Given the description of an element on the screen output the (x, y) to click on. 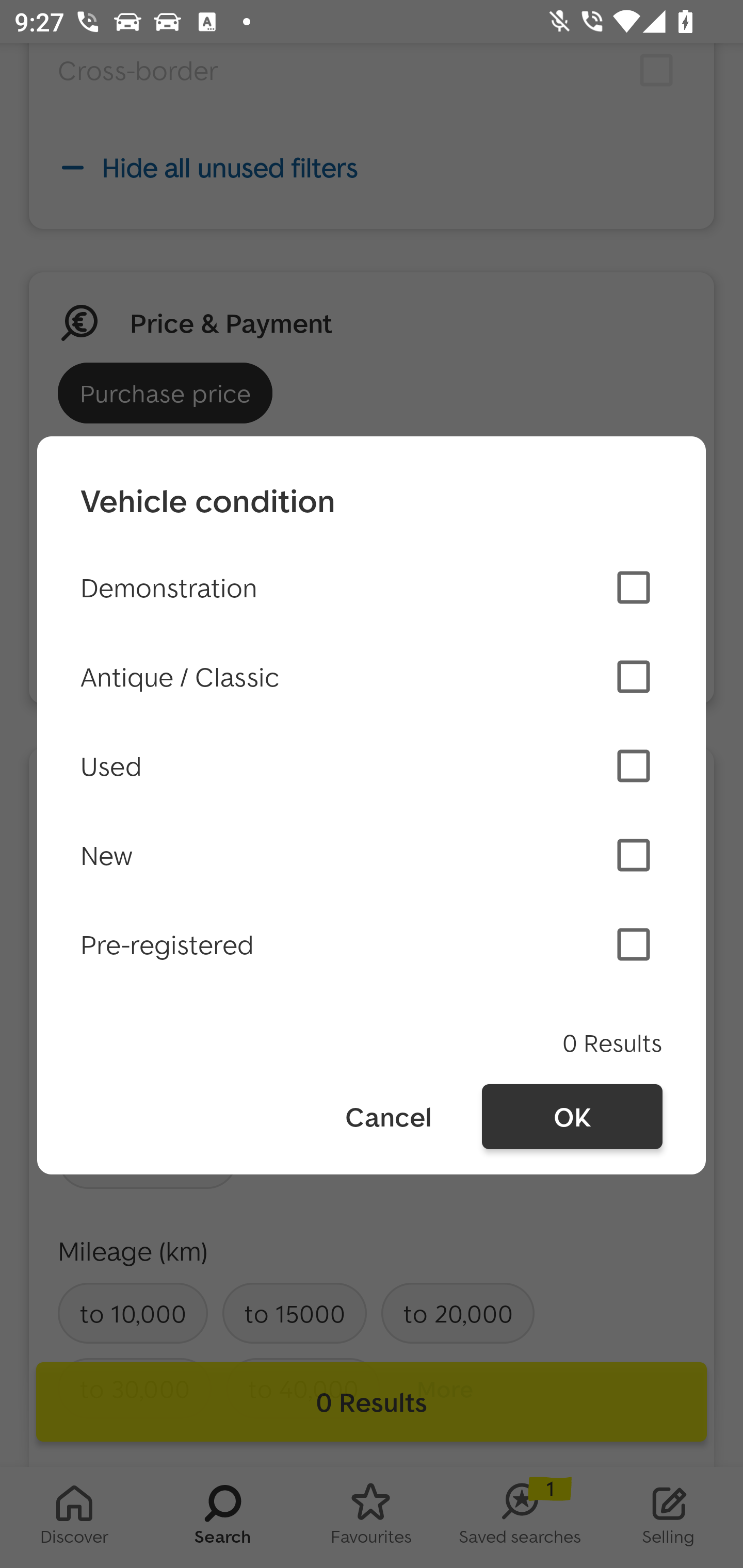
Demonstration (371, 586)
Antique / Classic (371, 676)
Used (371, 765)
New (371, 855)
Pre-registered (371, 944)
Cancel (387, 1117)
OK (572, 1117)
